Given the description of an element on the screen output the (x, y) to click on. 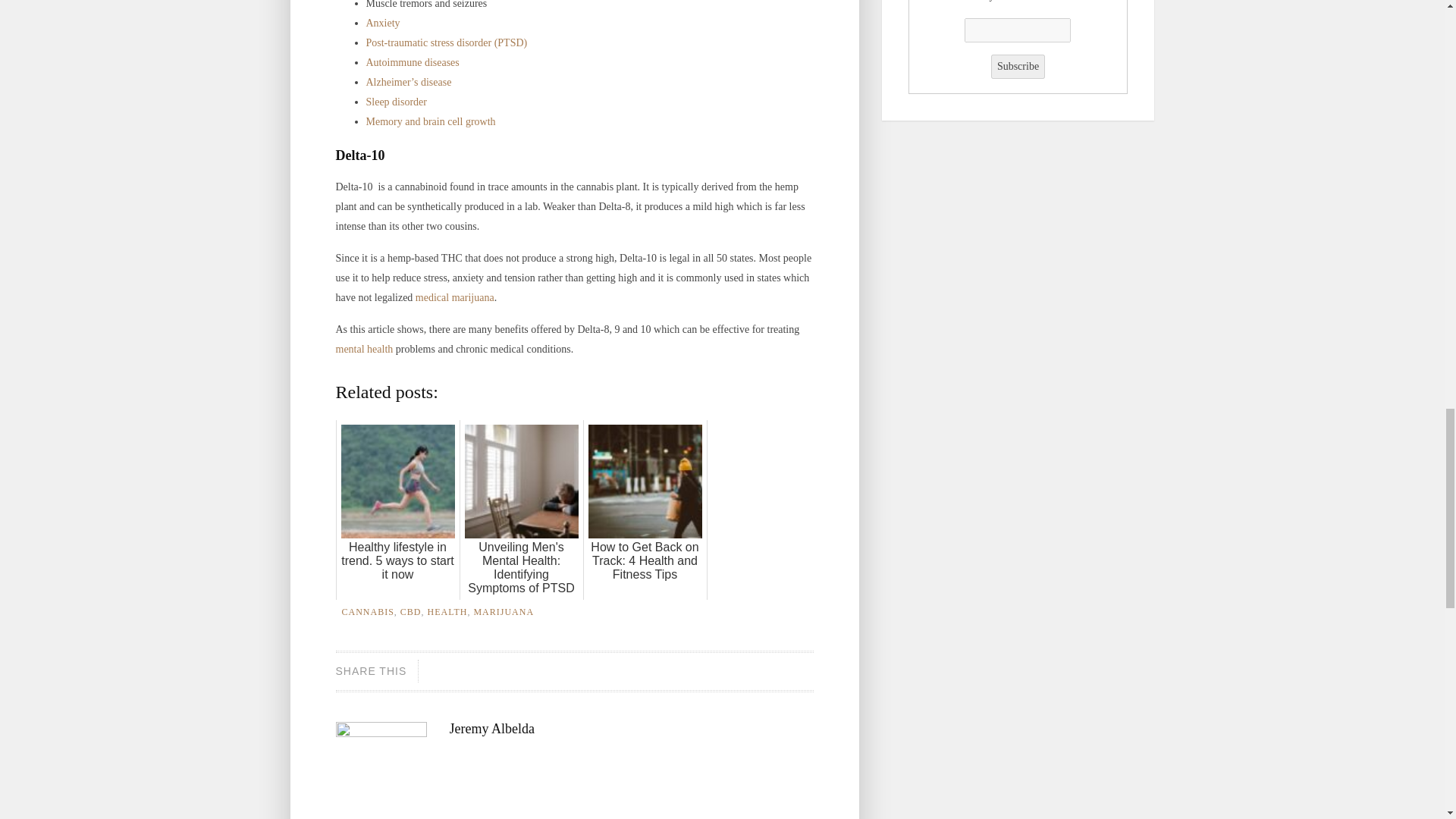
Subscribe (1018, 66)
Anxiety (381, 22)
